Given the description of an element on the screen output the (x, y) to click on. 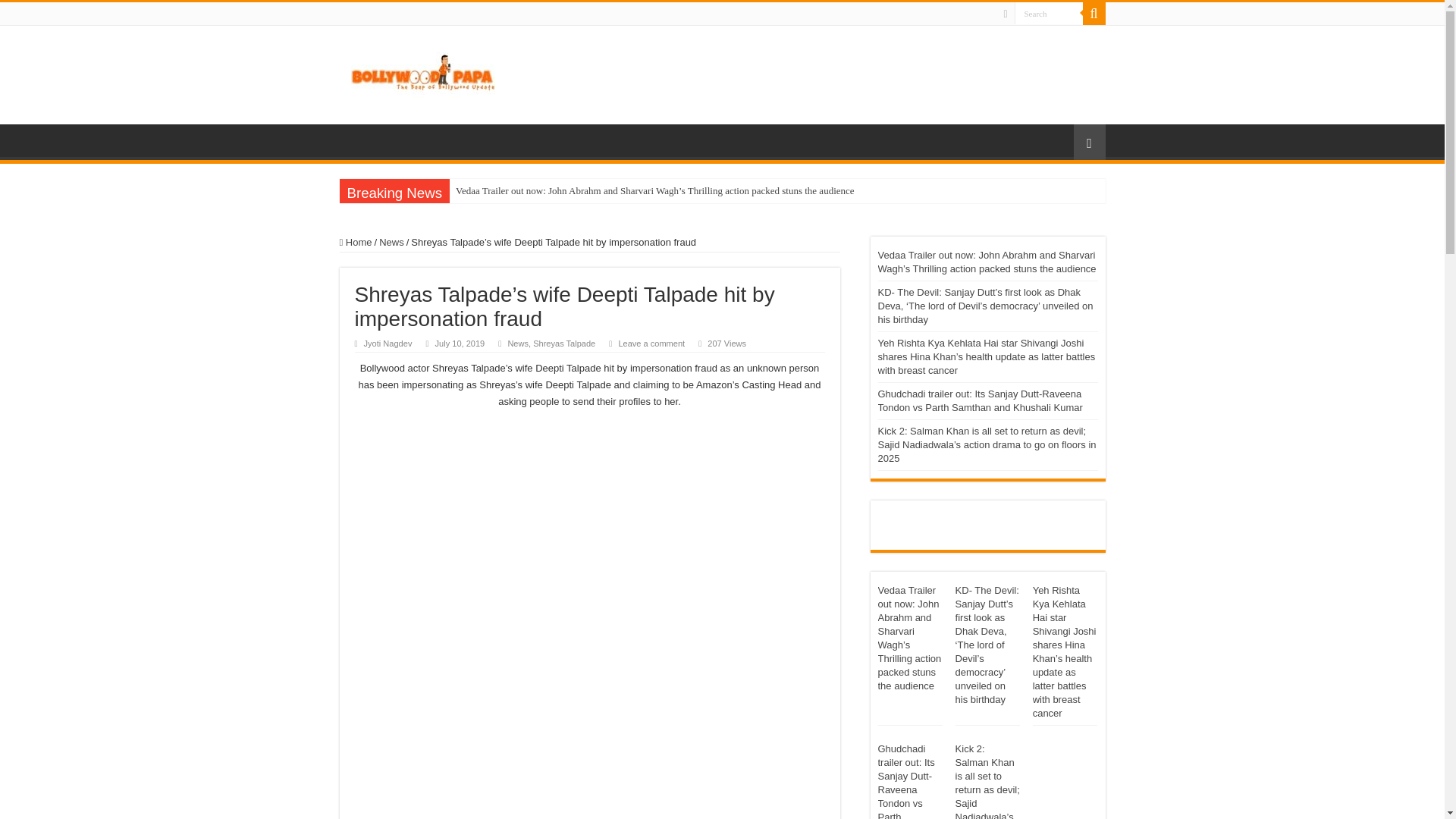
Search (1048, 13)
Search (1048, 13)
Search (1094, 13)
Jyoti Nagdev (388, 343)
Leave a comment (650, 343)
Bollywood Papa (422, 72)
Home (355, 242)
News (391, 242)
Search (1048, 13)
Random Article (1089, 141)
